Given the description of an element on the screen output the (x, y) to click on. 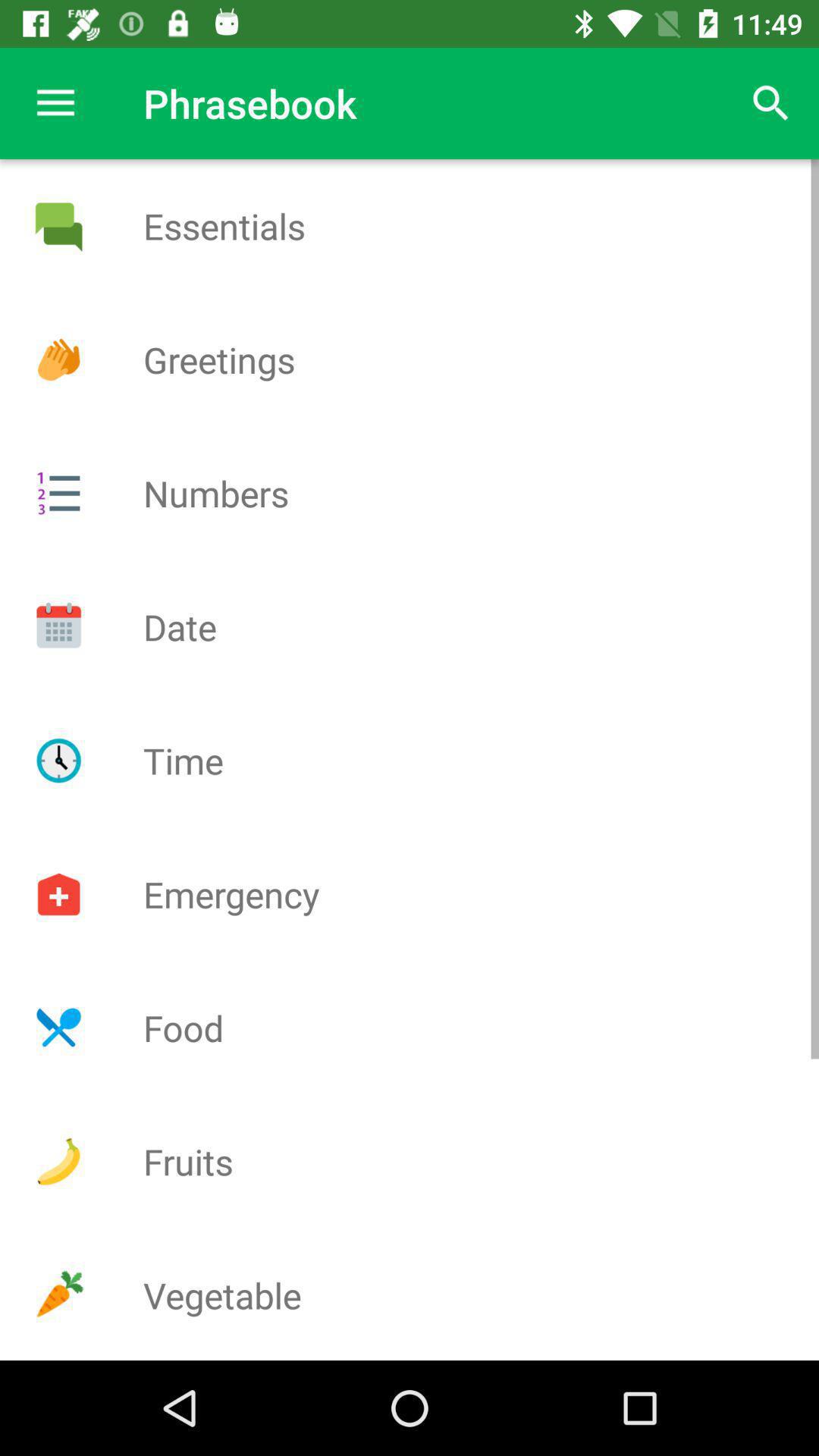
date page (58, 627)
